Given the description of an element on the screen output the (x, y) to click on. 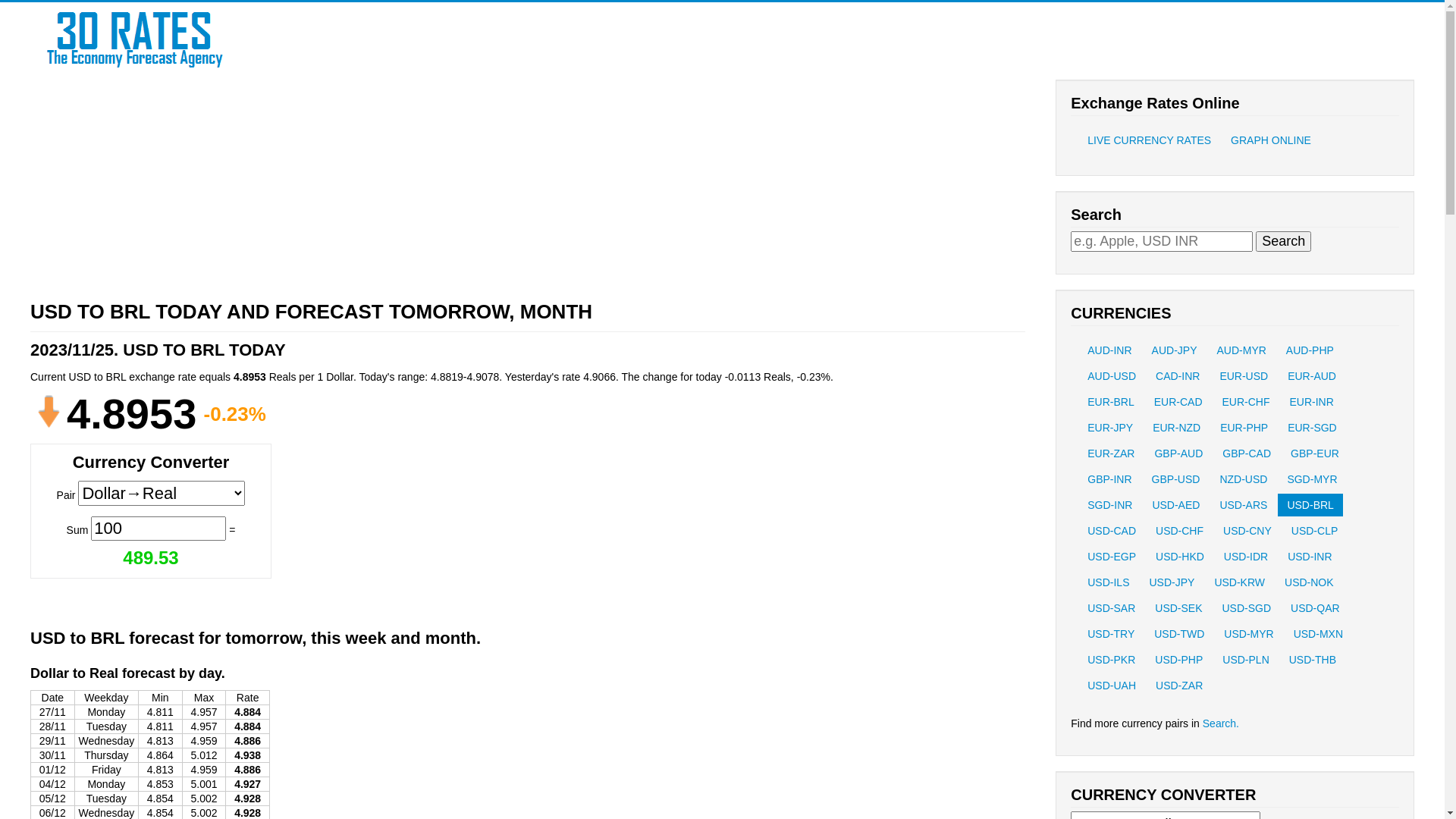
USD-MYR Element type: text (1248, 633)
AUD-PHP Element type: text (1310, 349)
Search. Element type: text (1220, 723)
USD-QAR Element type: text (1315, 607)
GBP-USD Element type: text (1175, 478)
USD-BRL Element type: text (1309, 504)
AUD-USD Element type: text (1111, 375)
USD-HKD Element type: text (1179, 556)
AUD-JPY Element type: text (1174, 349)
USD-ARS Element type: text (1243, 504)
EUR-JPY Element type: text (1110, 427)
Search Element type: text (1283, 241)
USD-CHF Element type: text (1179, 530)
USD-PKR Element type: text (1111, 659)
EUR-NZD Element type: text (1176, 427)
AUD-INR Element type: text (1109, 349)
USD-EGP Element type: text (1111, 556)
EUR-SGD Element type: text (1312, 427)
USD-PHP Element type: text (1178, 659)
Advertisement Element type: hover (415, 500)
USD-SAR Element type: text (1111, 607)
USD-UAH Element type: text (1111, 685)
USD-IDR Element type: text (1245, 556)
USD-ZAR Element type: text (1178, 685)
EUR-PHP Element type: text (1244, 427)
USD-KRW Element type: text (1239, 582)
SGD-MYR Element type: text (1311, 478)
EUR-ZAR Element type: text (1110, 453)
NZD-USD Element type: text (1243, 478)
USD-TRY Element type: text (1110, 633)
USD-CNY Element type: text (1247, 530)
GBP-AUD Element type: text (1178, 453)
EUR-CAD Element type: text (1178, 401)
GBP-CAD Element type: text (1246, 453)
EUR-CHF Element type: text (1246, 401)
CAD-INR Element type: text (1177, 375)
USD-THB Element type: text (1312, 659)
USD-CAD Element type: text (1111, 530)
EUR-INR Element type: text (1311, 401)
SGD-INR Element type: text (1109, 504)
EUR-AUD Element type: text (1311, 375)
USD-PLN Element type: text (1245, 659)
GRAPH ONLINE Element type: text (1270, 139)
USD-CLP Element type: text (1314, 530)
USD-NOK Element type: text (1309, 582)
USD-ILS Element type: text (1108, 582)
USD-INR Element type: text (1309, 556)
USD-SEK Element type: text (1178, 607)
EUR-USD Element type: text (1243, 375)
Advertisement Element type: hover (485, 185)
USD-MXN Element type: text (1318, 633)
GBP-INR Element type: text (1109, 478)
GBP-EUR Element type: text (1314, 453)
LIVE CURRENCY RATES Element type: text (1149, 139)
EUR-BRL Element type: text (1110, 401)
USD-TWD Element type: text (1179, 633)
USD-SGD Element type: text (1246, 607)
USD-AED Element type: text (1175, 504)
AUD-MYR Element type: text (1240, 349)
USD-JPY Element type: text (1171, 582)
